Given the description of an element on the screen output the (x, y) to click on. 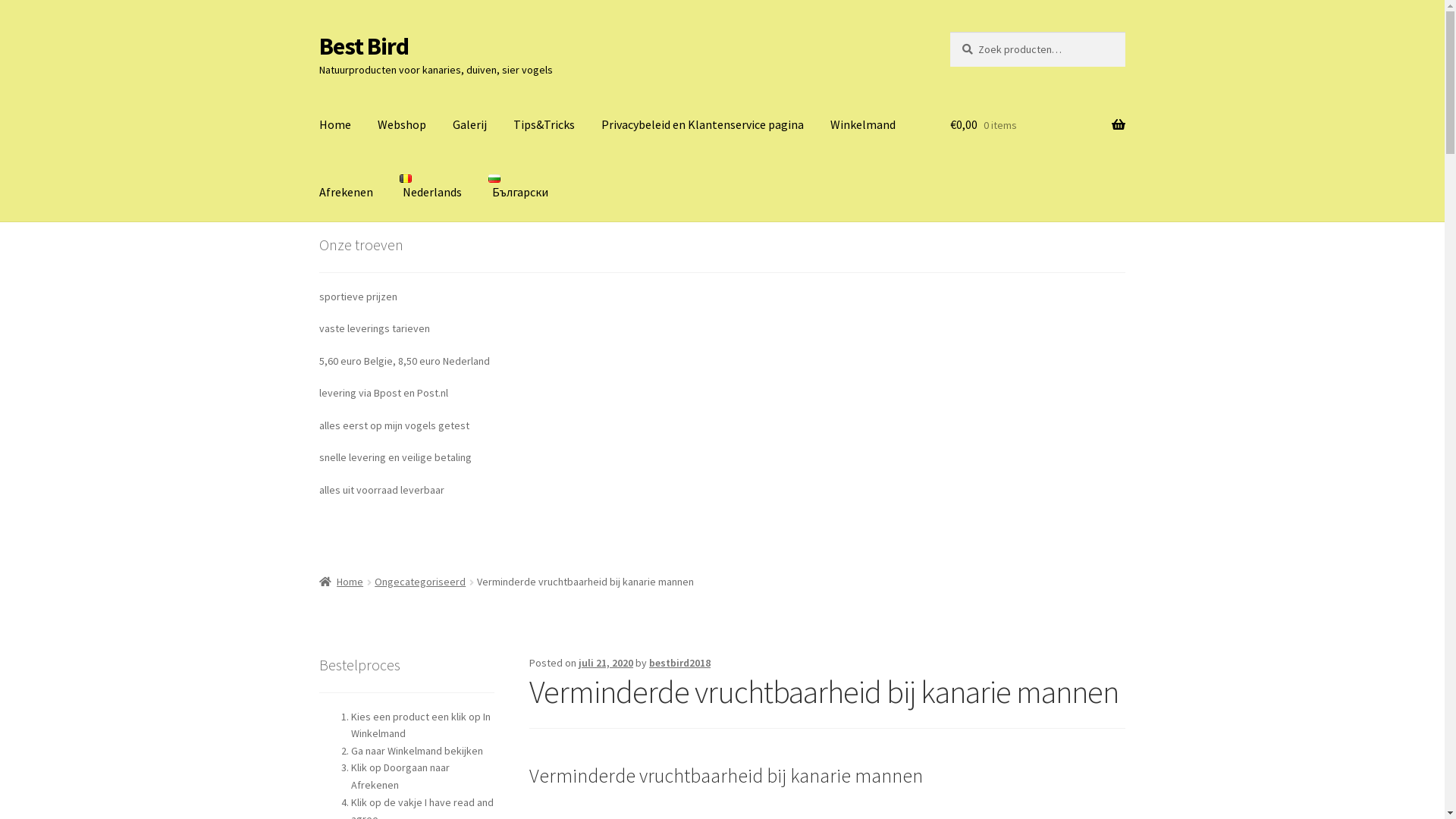
Zoeken Element type: text (949, 31)
juli 21, 2020 Element type: text (605, 662)
Ongecategoriseerd Element type: text (419, 581)
Tips&Tricks Element type: text (543, 124)
Winkelmand Element type: text (862, 124)
Best Bird Element type: text (363, 46)
Afrekenen Element type: text (346, 192)
Privacybeleid en Klantenservice pagina Element type: text (702, 124)
Home Element type: text (335, 124)
Nederlands Element type: text (430, 188)
Skip to navigation Element type: text (318, 31)
Galerij Element type: text (469, 124)
Webshop Element type: text (401, 124)
bestbird2018 Element type: text (679, 662)
Home Element type: text (341, 581)
